Given the description of an element on the screen output the (x, y) to click on. 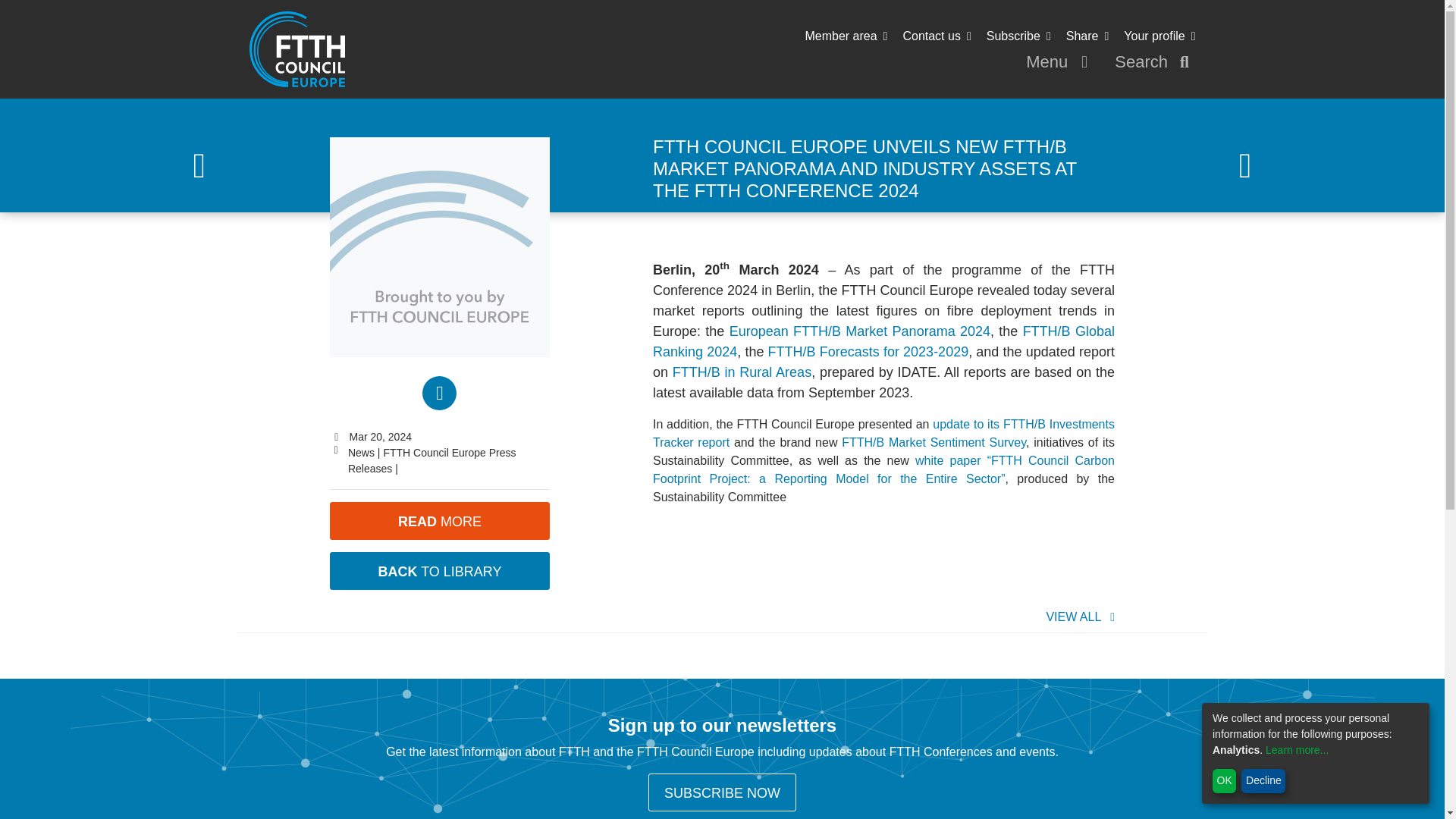
Your profile (1159, 35)
Search (1154, 62)
Menu (1060, 62)
Share (1087, 35)
Contact us (936, 35)
Member area (845, 35)
Subscribe (1019, 35)
